Given the description of an element on the screen output the (x, y) to click on. 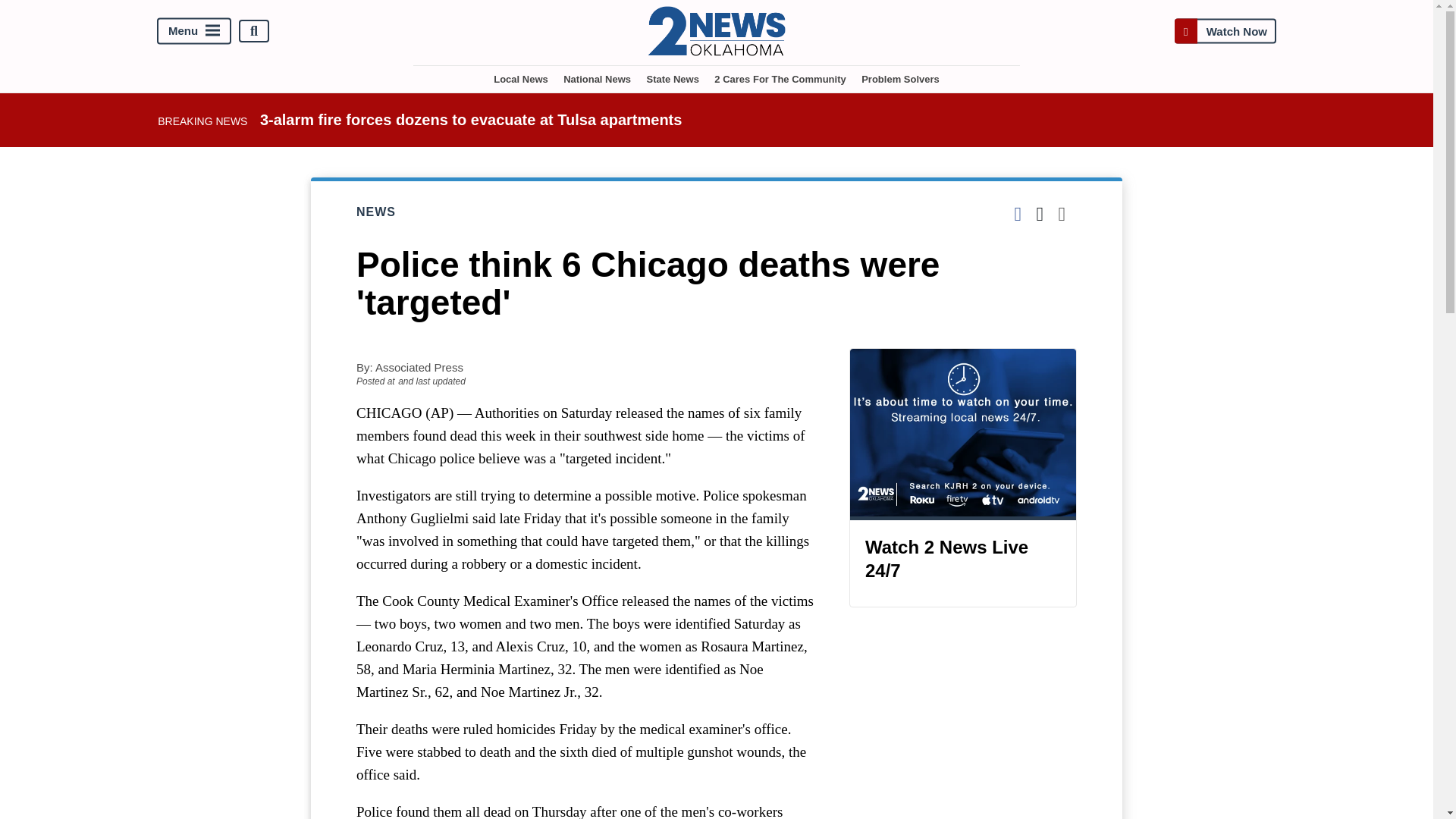
Watch Now (1224, 31)
Menu (194, 31)
